Given the description of an element on the screen output the (x, y) to click on. 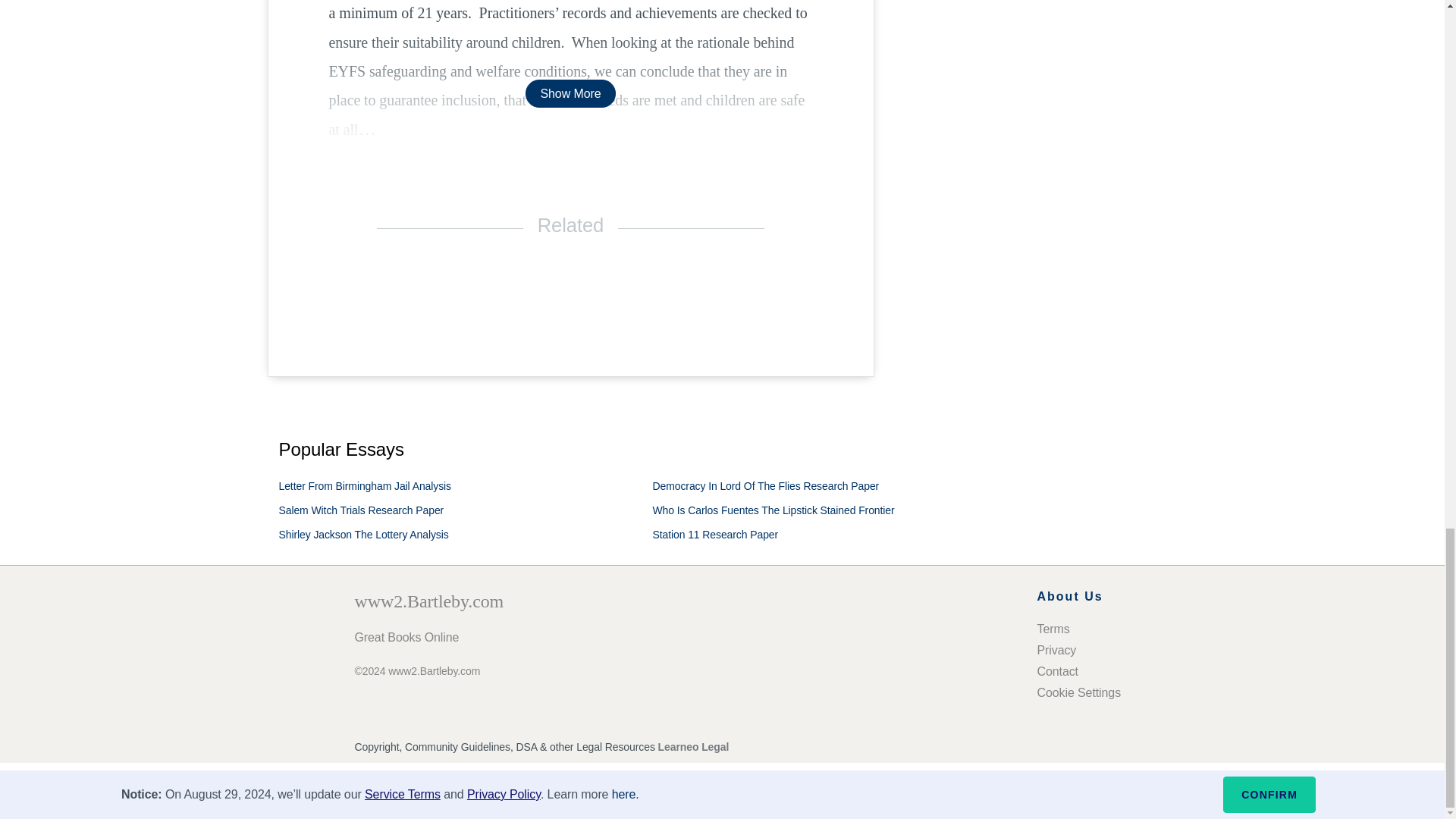
Show More (569, 93)
Salem Witch Trials Research Paper (361, 510)
Cookie Settings (1078, 692)
Who Is Carlos Fuentes The Lipstick Stained Frontier (772, 510)
Contact (1057, 671)
Terms (1053, 628)
Shirley Jackson The Lottery Analysis (363, 534)
Democracy In Lord Of The Flies Research Paper (765, 485)
Salem Witch Trials Research Paper (361, 510)
Who Is Carlos Fuentes The Lipstick Stained Frontier (772, 510)
Shirley Jackson The Lottery Analysis (363, 534)
Democracy In Lord Of The Flies Research Paper (765, 485)
Privacy (1056, 649)
Learneo Legal (693, 746)
Station 11 Research Paper (714, 534)
